Given the description of an element on the screen output the (x, y) to click on. 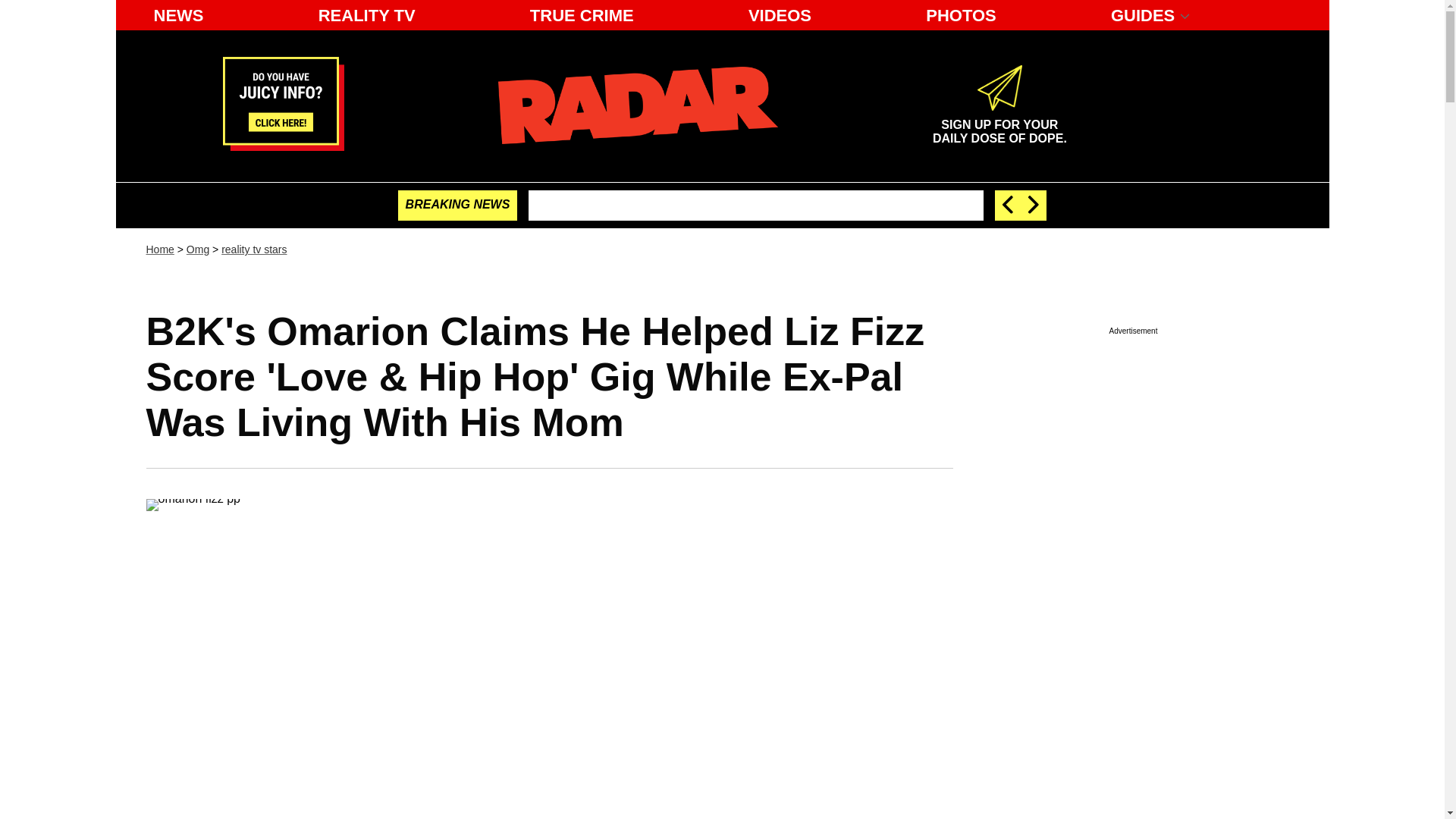
Email us your tip (282, 146)
reality tv stars (253, 249)
NEWS (178, 15)
PHOTOS (961, 15)
Omg (197, 249)
VIDEOS (779, 15)
REALITY TV (367, 15)
TRUE CRIME (582, 15)
Sign up for your daily dose of dope. (999, 124)
Radar Online (637, 105)
Home (159, 249)
